Given the description of an element on the screen output the (x, y) to click on. 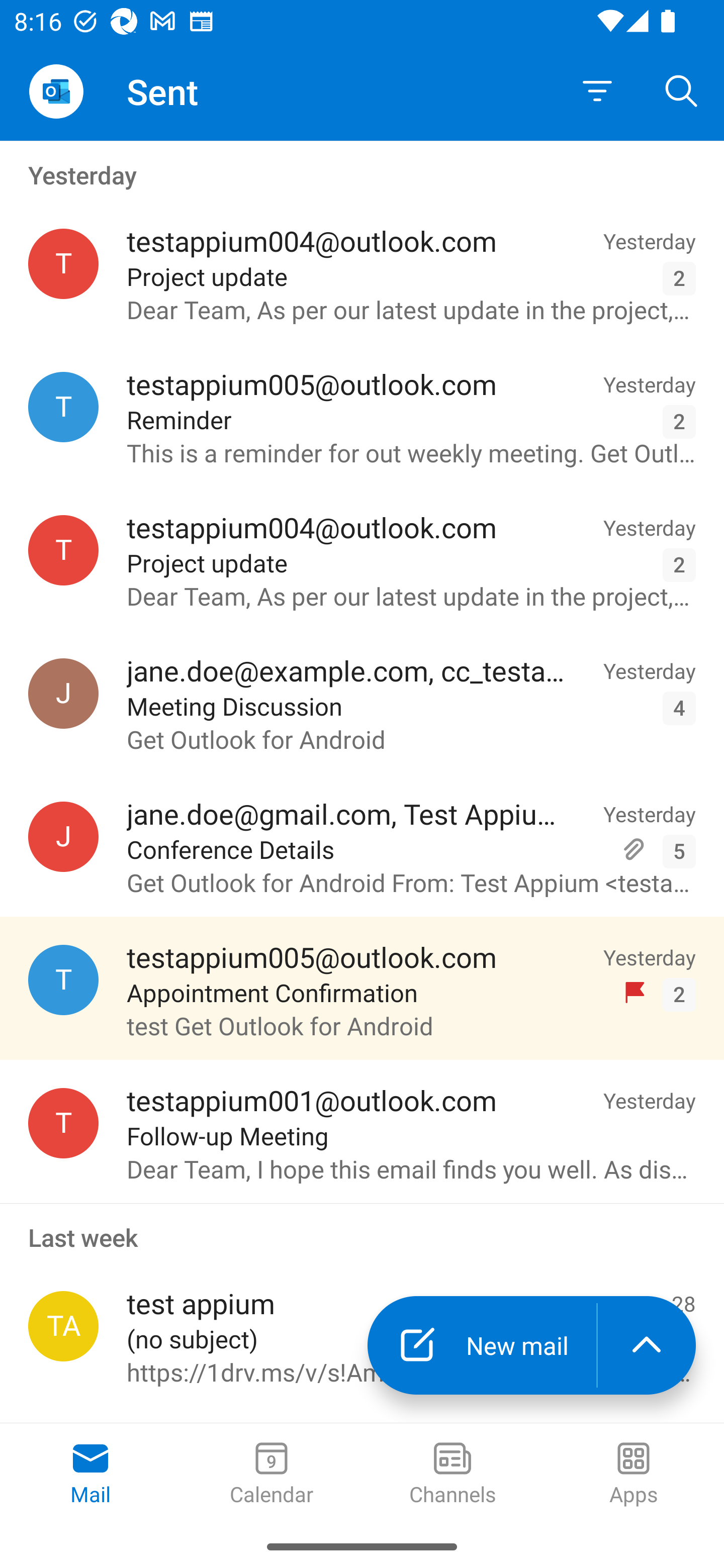
Search, ,  (681, 90)
Open Navigation Drawer (55, 91)
Filter (597, 91)
jane.doe@example.com, jane.doe@example.com (63, 693)
jane.doe@gmail.com, jane.doe@gmail.com (63, 836)
test appium, testappium002@gmail.com (63, 1325)
New mail (481, 1344)
launch the extended action menu (646, 1344)
Calendar (271, 1474)
Channels (452, 1474)
Apps (633, 1474)
